Given the description of an element on the screen output the (x, y) to click on. 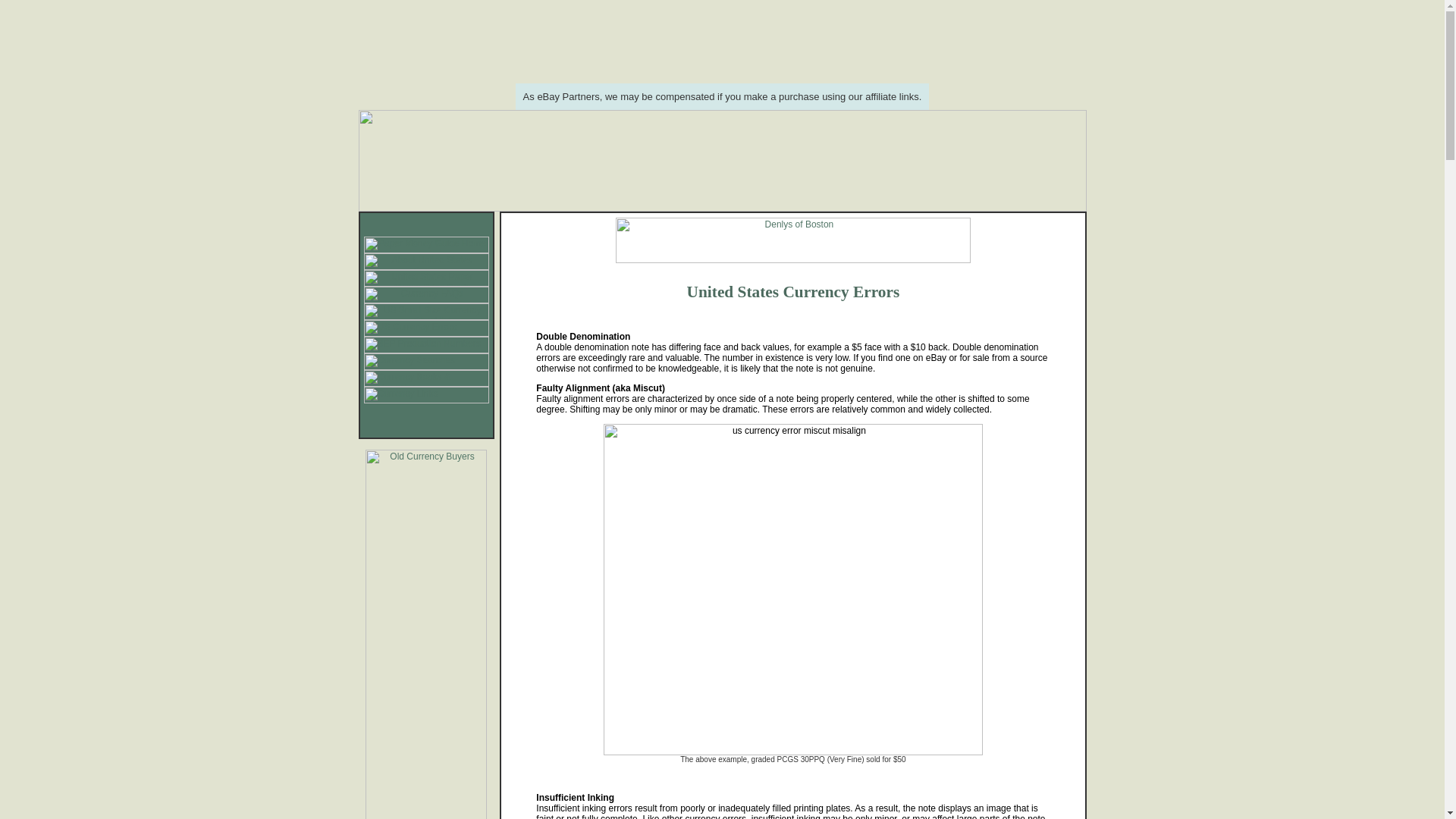
Currency Searches (426, 361)
United States Paper Money Price Guide (426, 278)
Paper Money Guide Home (426, 244)
Currency FAQs (426, 294)
US Small Size Currency Checklist (426, 311)
About United States Currency (426, 261)
BEP Production Numbers (426, 344)
Currency Links (426, 394)
US Currency Errors (426, 328)
